Given the description of an element on the screen output the (x, y) to click on. 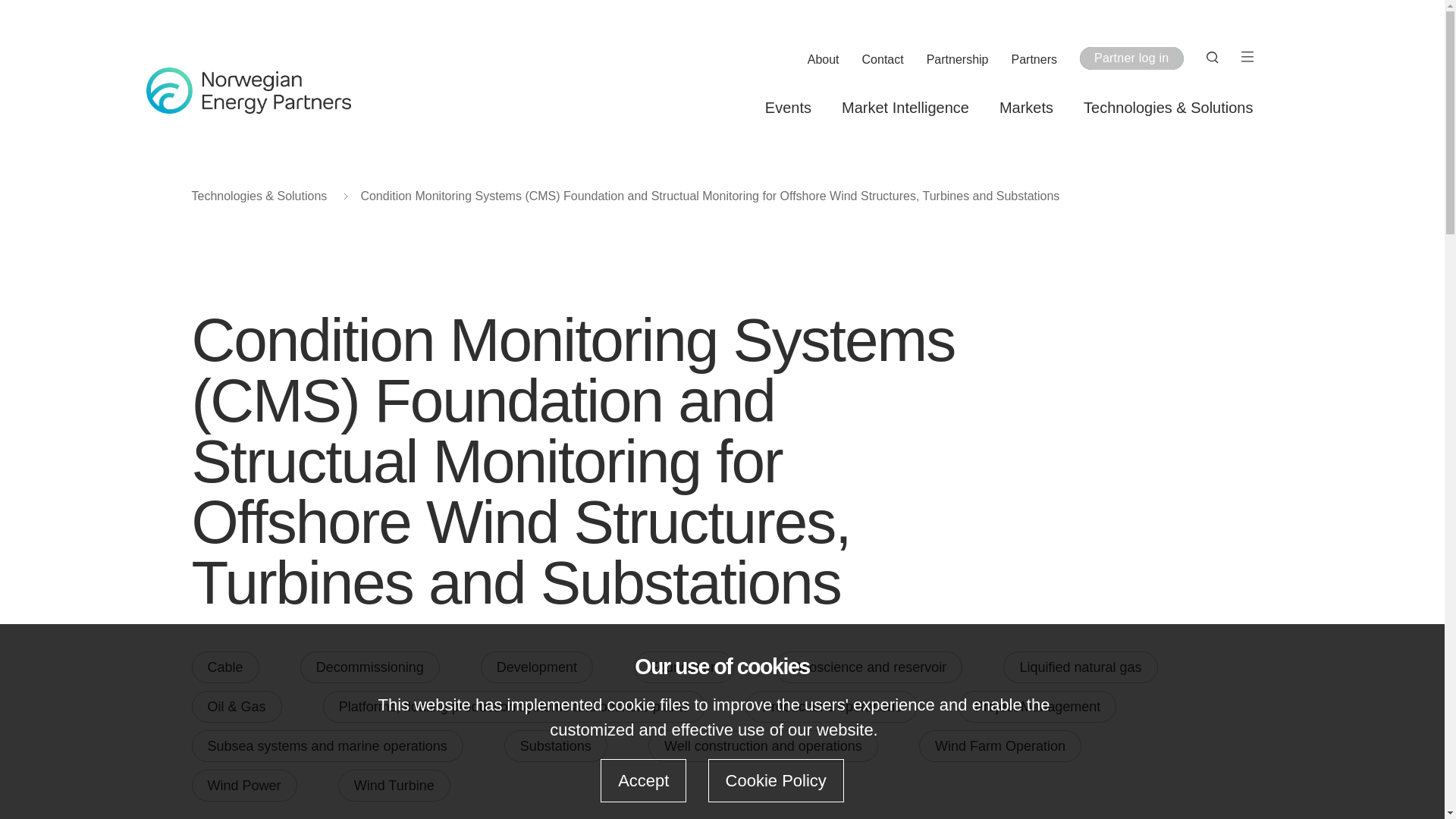
Partner log in (1131, 57)
Partners (1034, 60)
Markets (1025, 107)
About (824, 60)
Partnership (957, 60)
Market Intelligence (905, 107)
Events (787, 107)
Contact (882, 60)
